Given the description of an element on the screen output the (x, y) to click on. 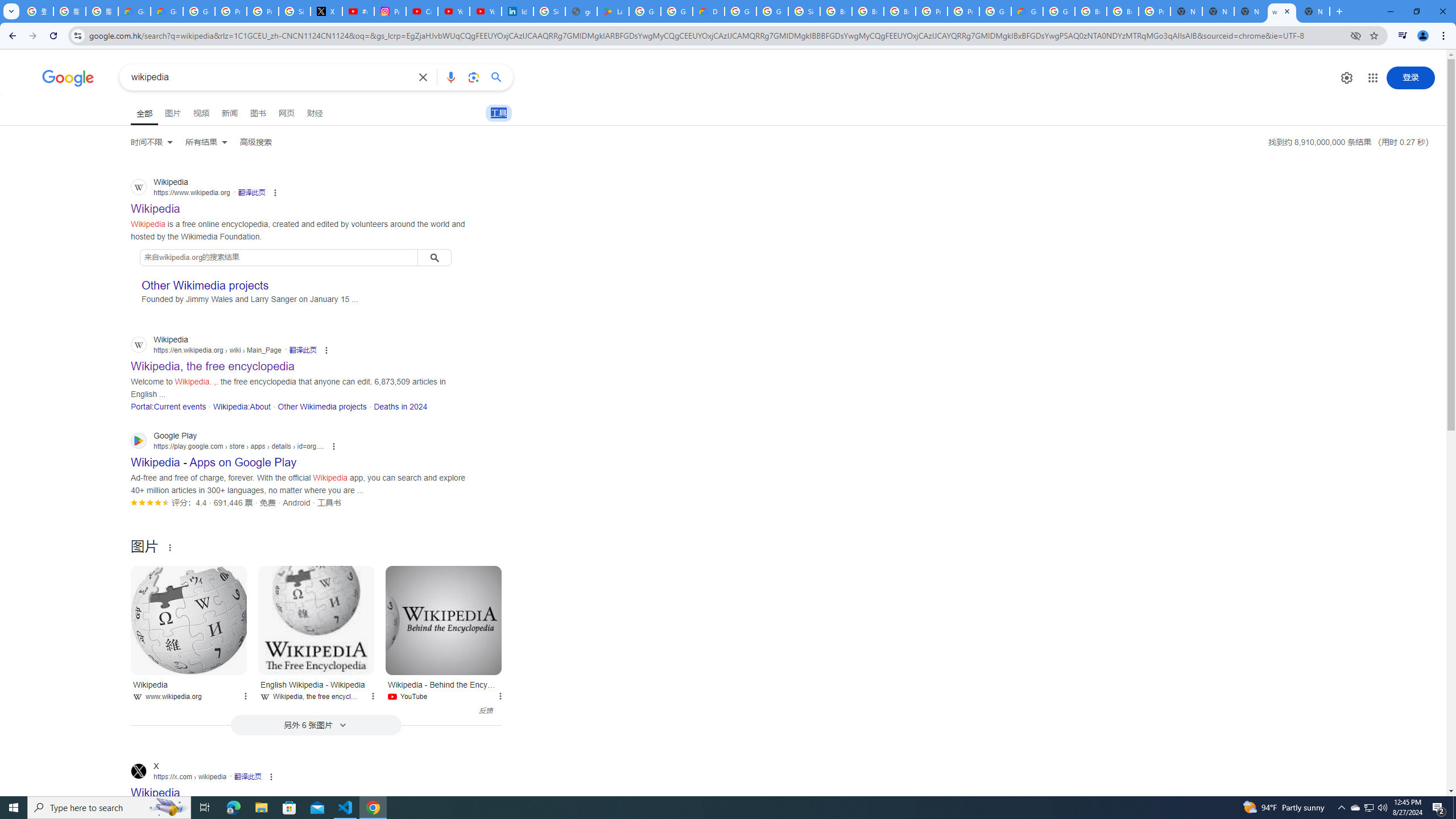
Portal:Current events (168, 406)
 Wikipedia Wikipedia https://www.wikipedia.org (155, 205)
Sign in - Google Accounts (294, 11)
Wikipedia - Behind the Encyclopedia (443, 619)
